Given the description of an element on the screen output the (x, y) to click on. 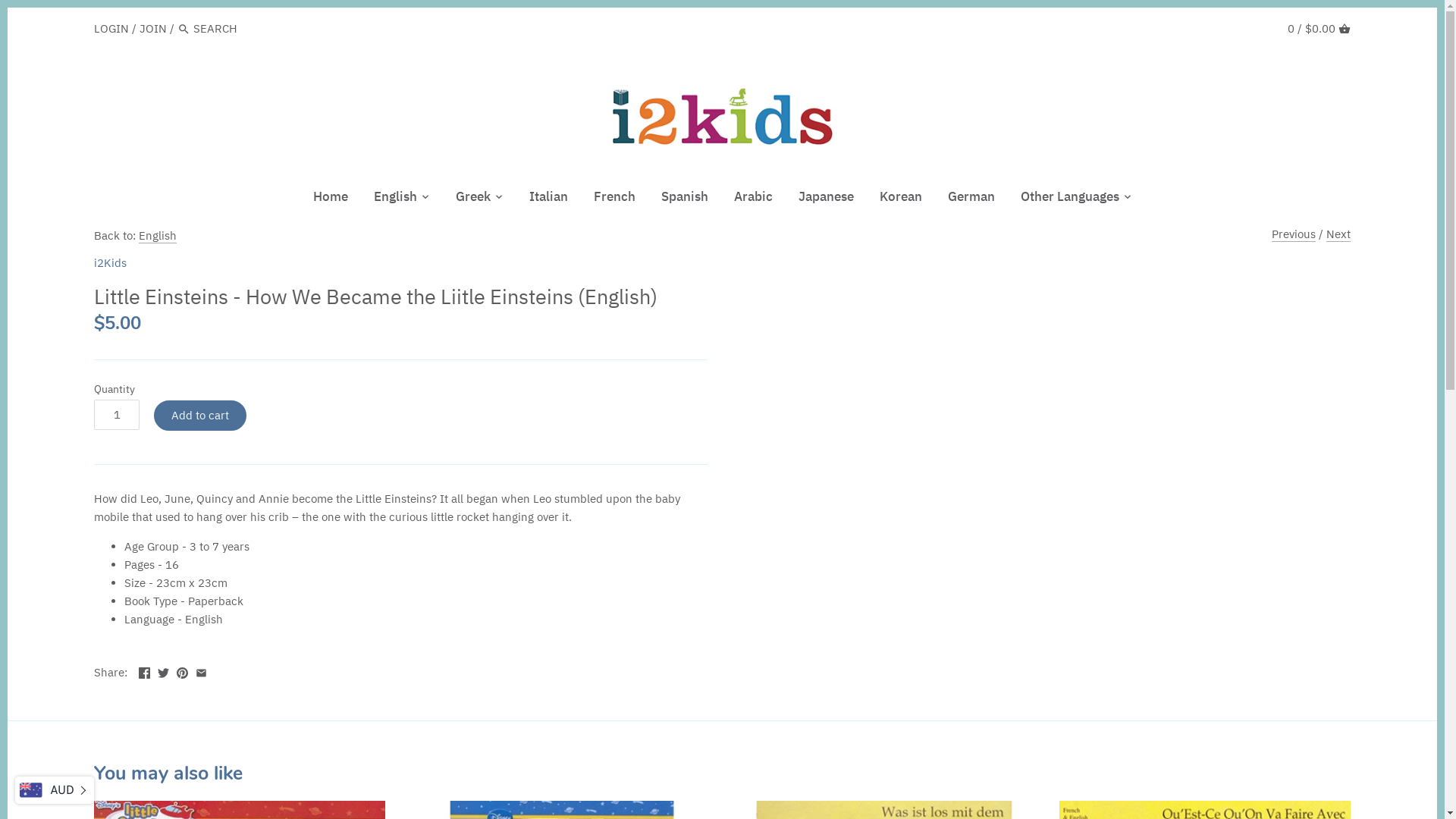
Add to cart Element type: text (199, 415)
0 / $0.00 CART Element type: text (1318, 28)
Search Element type: text (183, 29)
Previous Element type: text (1293, 233)
Greek Element type: text (472, 198)
Twitter Element type: text (163, 670)
Next Element type: text (1338, 233)
Korean Element type: text (900, 198)
French Element type: text (614, 198)
Email Element type: text (201, 670)
Japanese Element type: text (825, 198)
Pinterest Element type: text (182, 670)
Home Element type: text (330, 198)
English Element type: text (394, 198)
English Element type: text (157, 235)
i2Kids Element type: text (110, 262)
LOGIN Element type: text (111, 28)
Italian Element type: text (547, 198)
German Element type: text (970, 198)
JOIN Element type: text (152, 28)
Facebook Element type: text (144, 670)
Arabic Element type: text (752, 198)
Spanish Element type: text (683, 198)
Other Languages Element type: text (1069, 198)
